Given the description of an element on the screen output the (x, y) to click on. 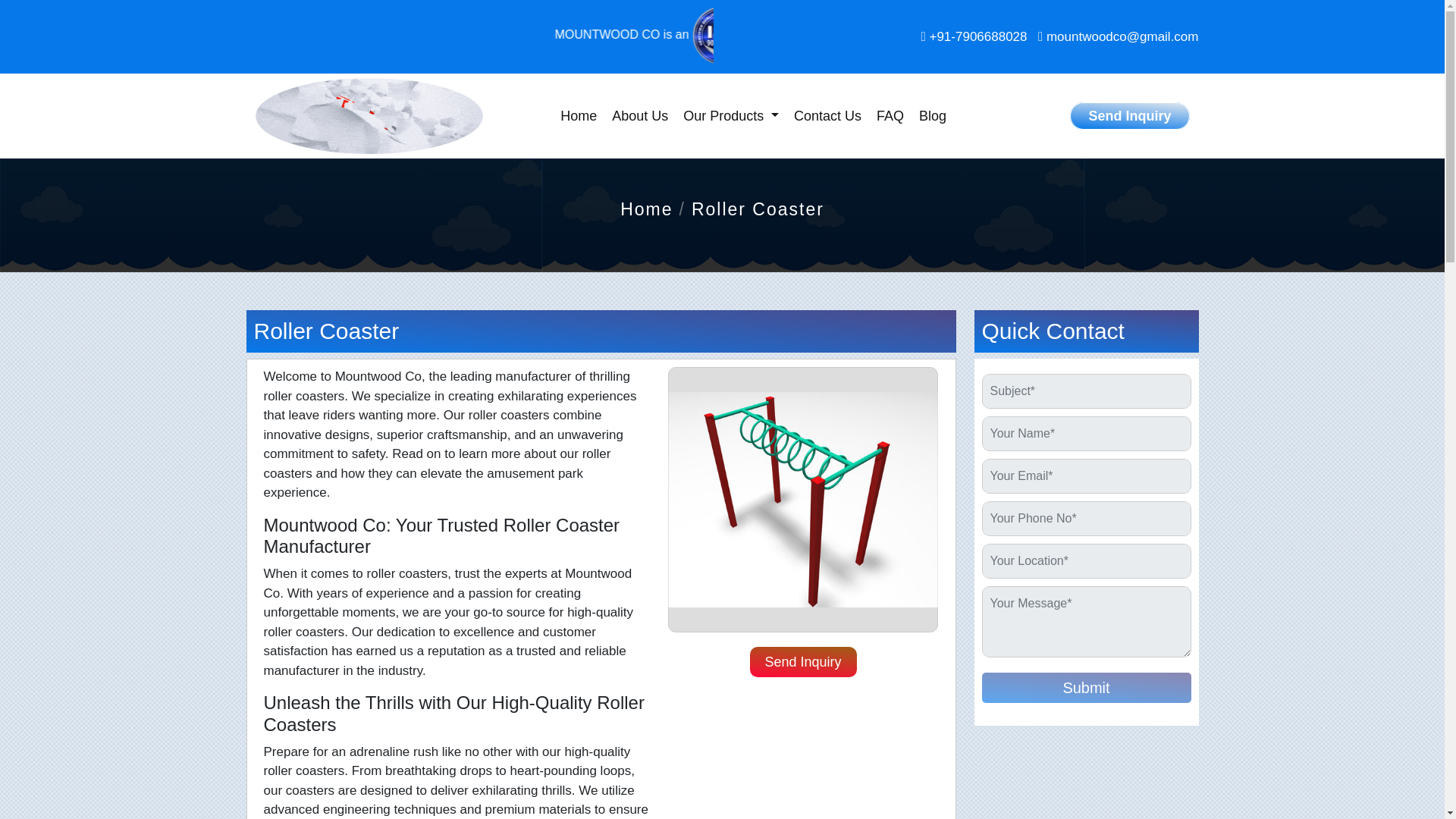
Our Products (730, 115)
About Us (639, 115)
